Given the description of an element on the screen output the (x, y) to click on. 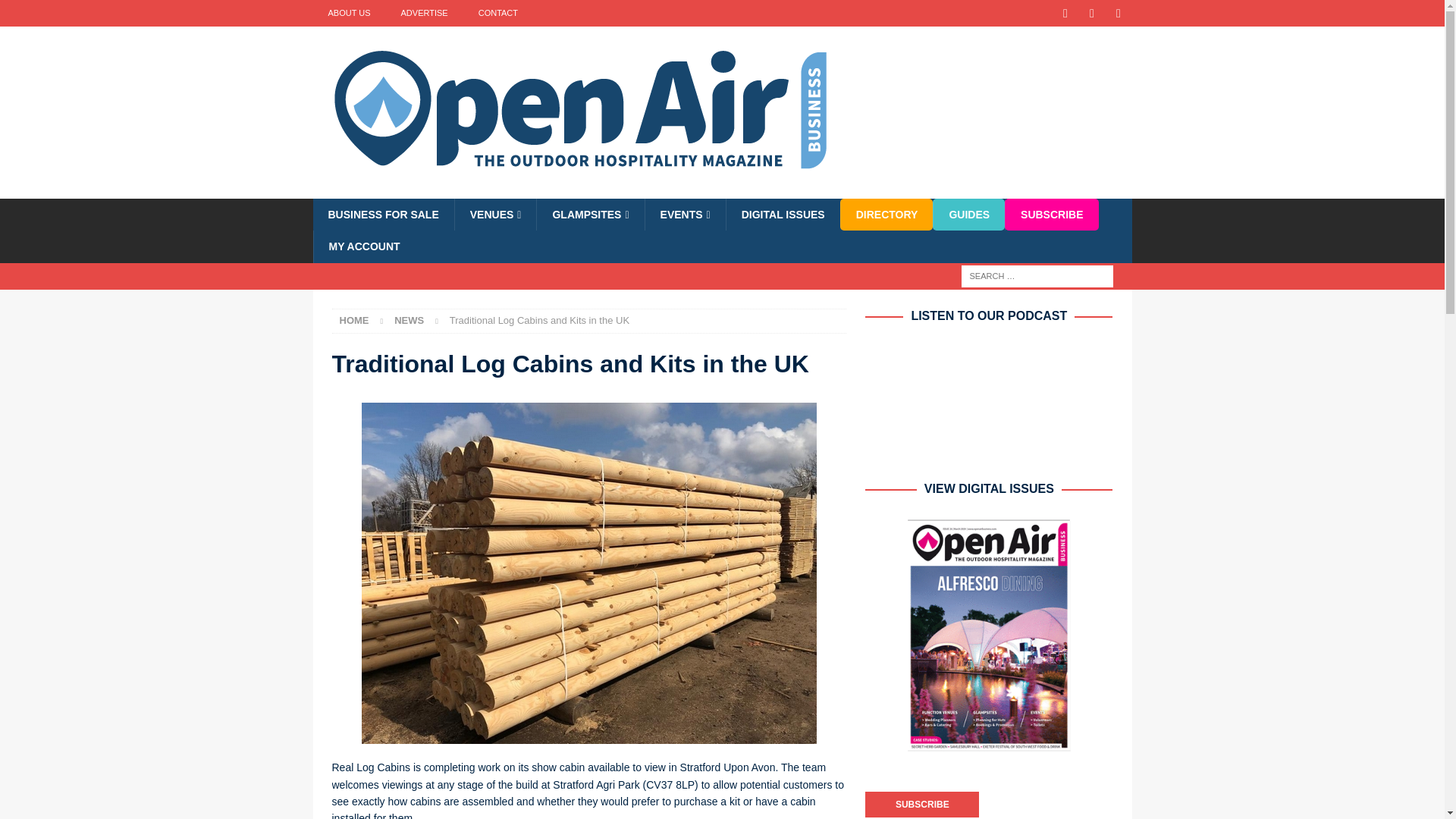
BUSINESS FOR SALE (382, 214)
GLAMPSITES (589, 214)
HOME (354, 319)
Home (354, 319)
DIGITAL ISSUES (782, 214)
CONTACT (497, 13)
SUBSCRIBE (1050, 214)
Subscribe (921, 804)
DIRECTORY (886, 214)
VENUES (495, 214)
